Given the description of an element on the screen output the (x, y) to click on. 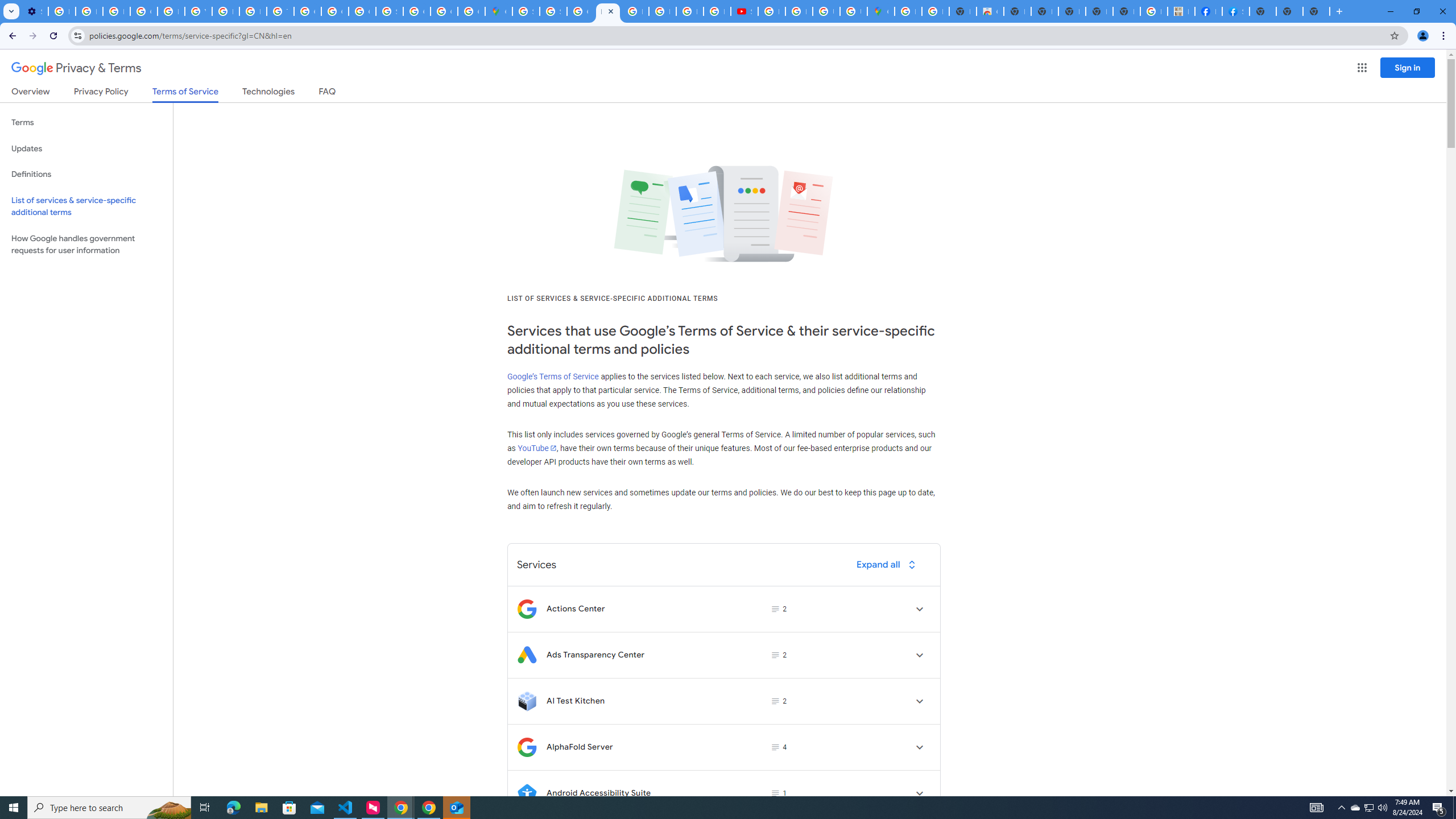
Delete photos & videos - Computer - Google Photos Help (61, 11)
Subscriptions - YouTube (743, 11)
How Google handles government requests for user information (86, 244)
Miley Cyrus | Facebook (1208, 11)
YouTube (536, 447)
Definitions (86, 174)
Sign in - Google Accounts (389, 11)
Sign Up for Facebook (1236, 11)
